Given the description of an element on the screen output the (x, y) to click on. 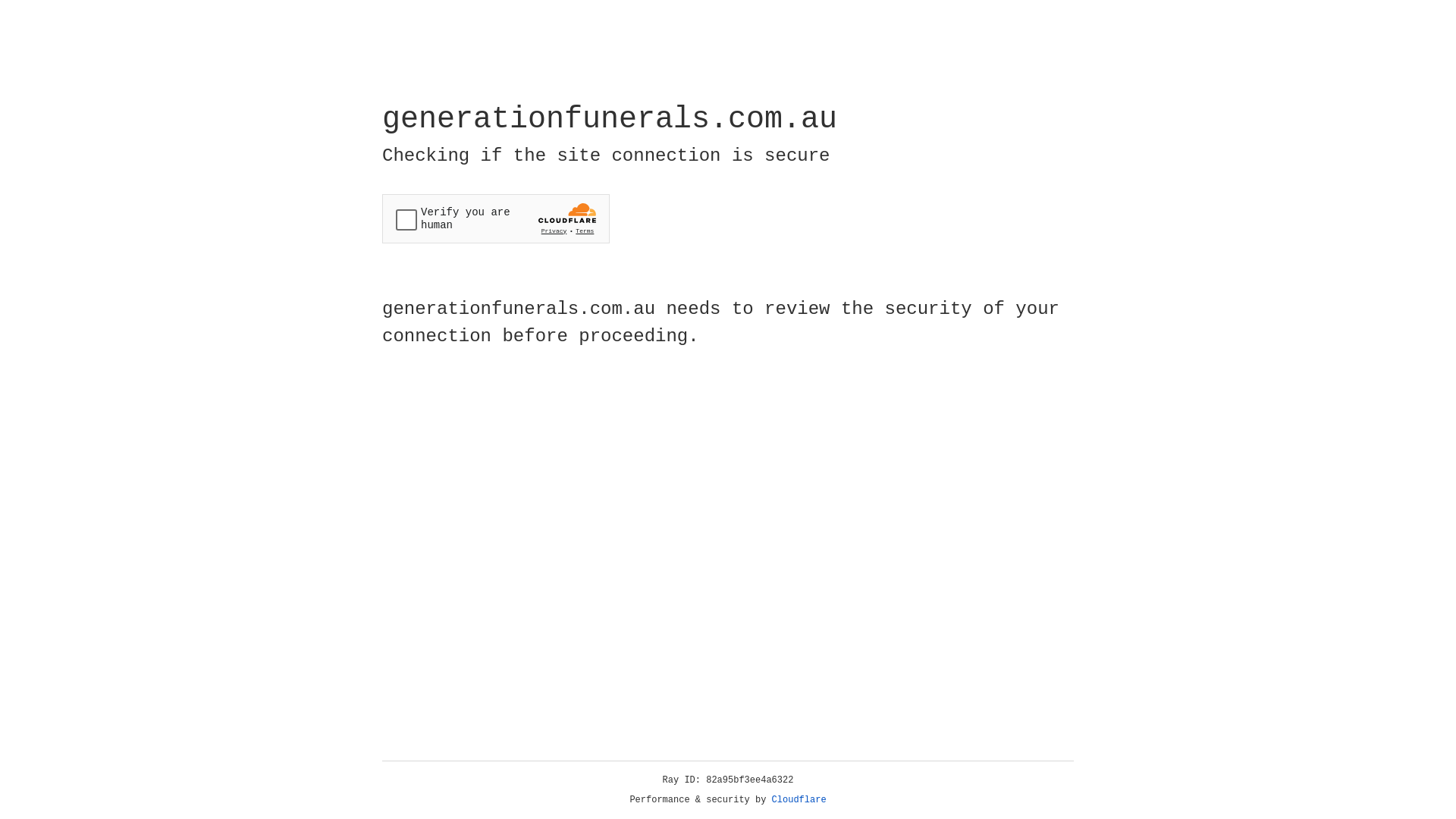
Widget containing a Cloudflare security challenge Element type: hover (495, 218)
Cloudflare Element type: text (798, 799)
